Given the description of an element on the screen output the (x, y) to click on. 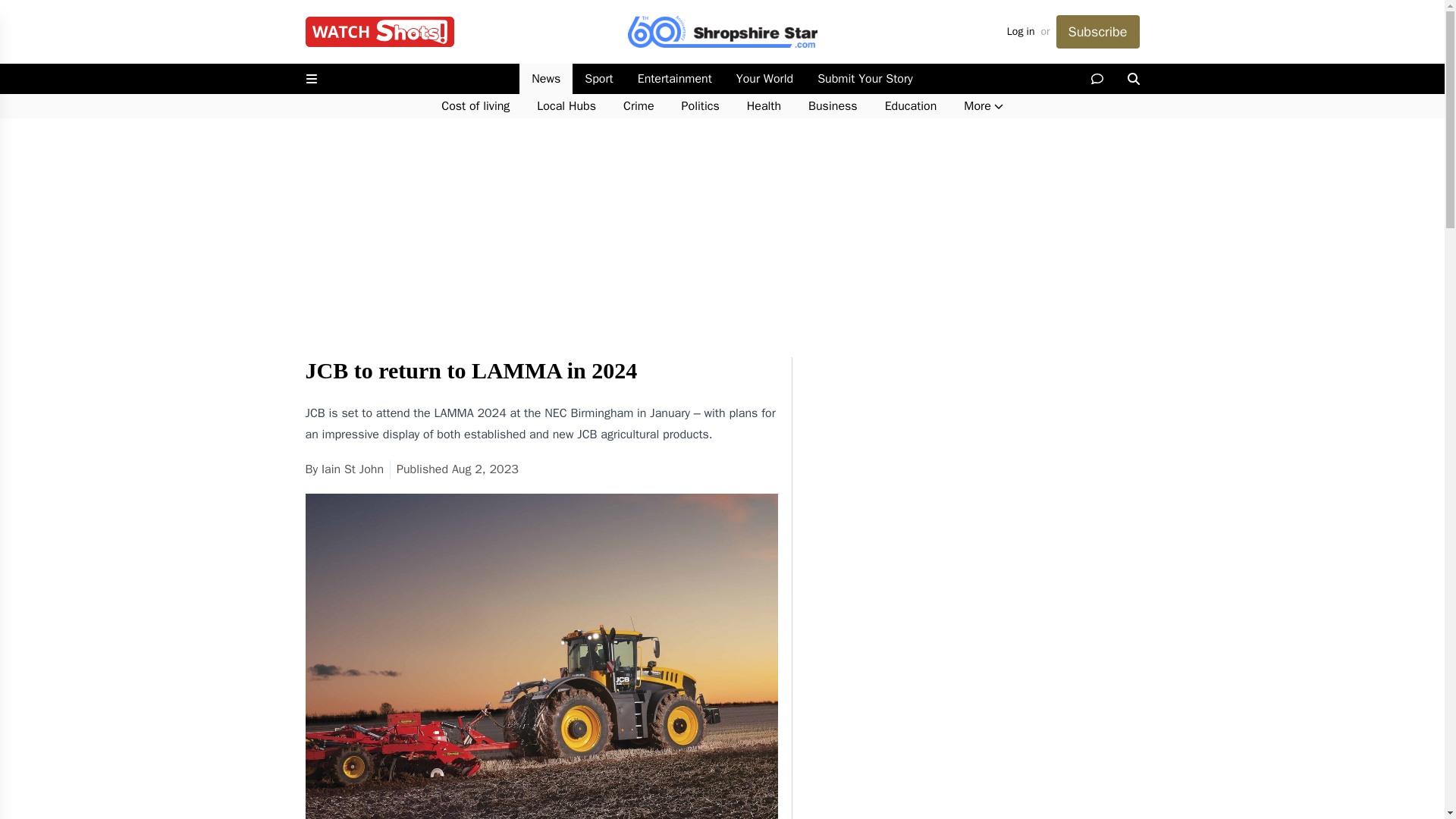
Your World (764, 78)
Health (764, 105)
More (983, 105)
Crime (638, 105)
Entertainment (674, 78)
Submit Your Story (864, 78)
News (545, 78)
Log in (1021, 31)
Cost of living (475, 105)
Local Hubs (566, 105)
